Given the description of an element on the screen output the (x, y) to click on. 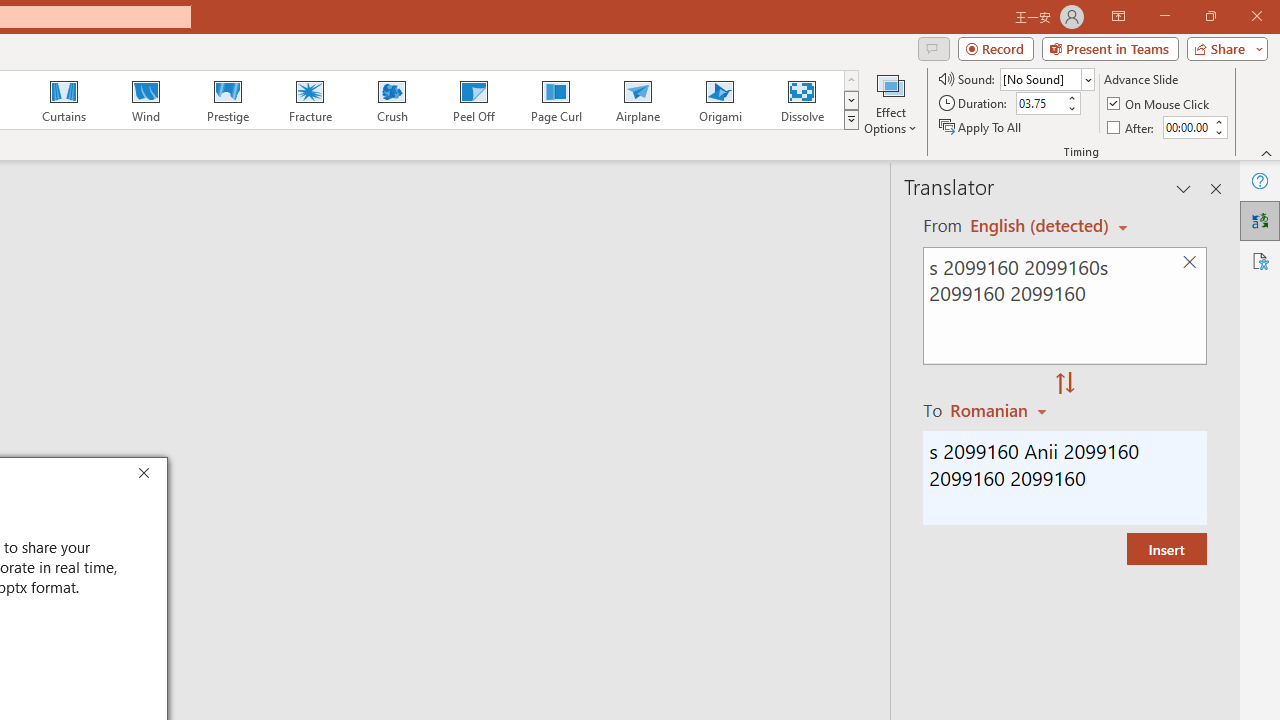
Transition Effects (850, 120)
Duration (1039, 103)
Sound (1046, 78)
